Given the description of an element on the screen output the (x, y) to click on. 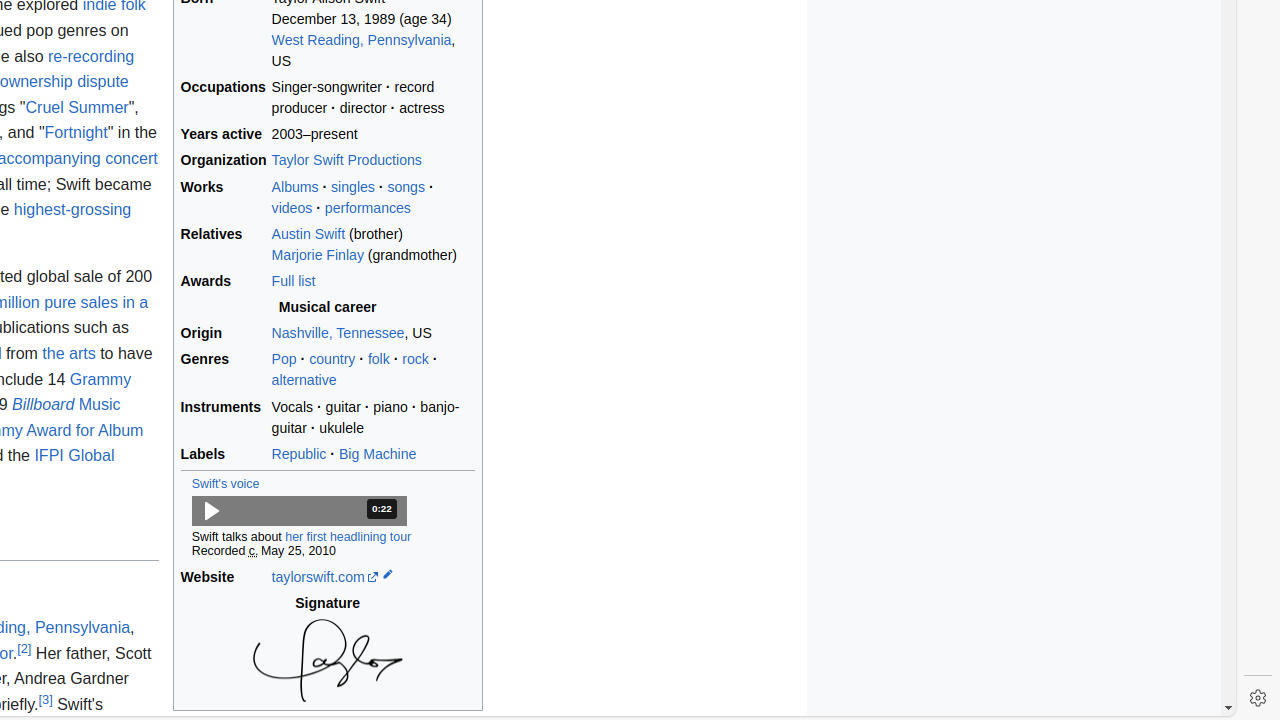
Marjorie Finlay Element type: link (317, 254)
Cruel Summer Element type: link (77, 106)
Singer-songwriter · record producer · director · actress Element type: table-cell (373, 98)
her first headlining tour Element type: link (348, 537)
taylorswift .com Element type: link (325, 576)
